Given the description of an element on the screen output the (x, y) to click on. 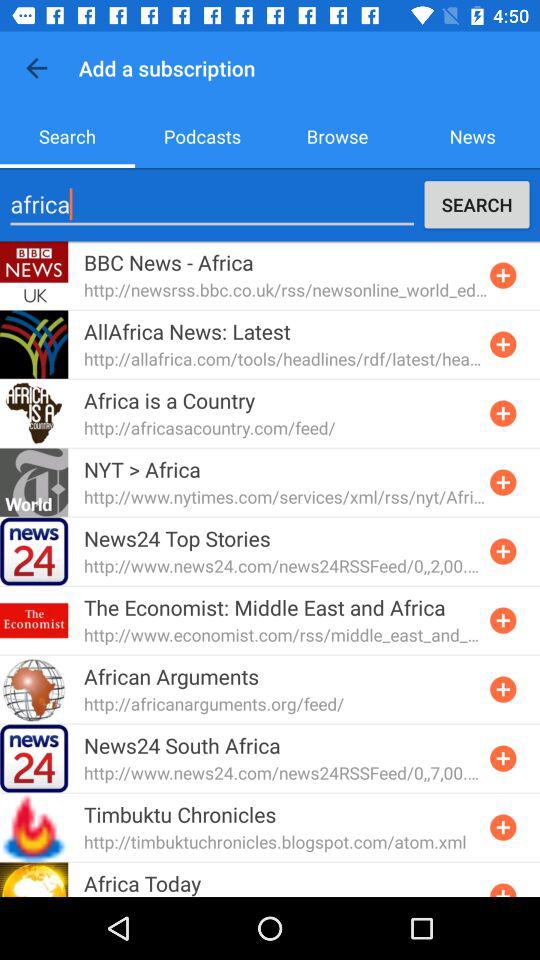
add subscription (503, 551)
